Given the description of an element on the screen output the (x, y) to click on. 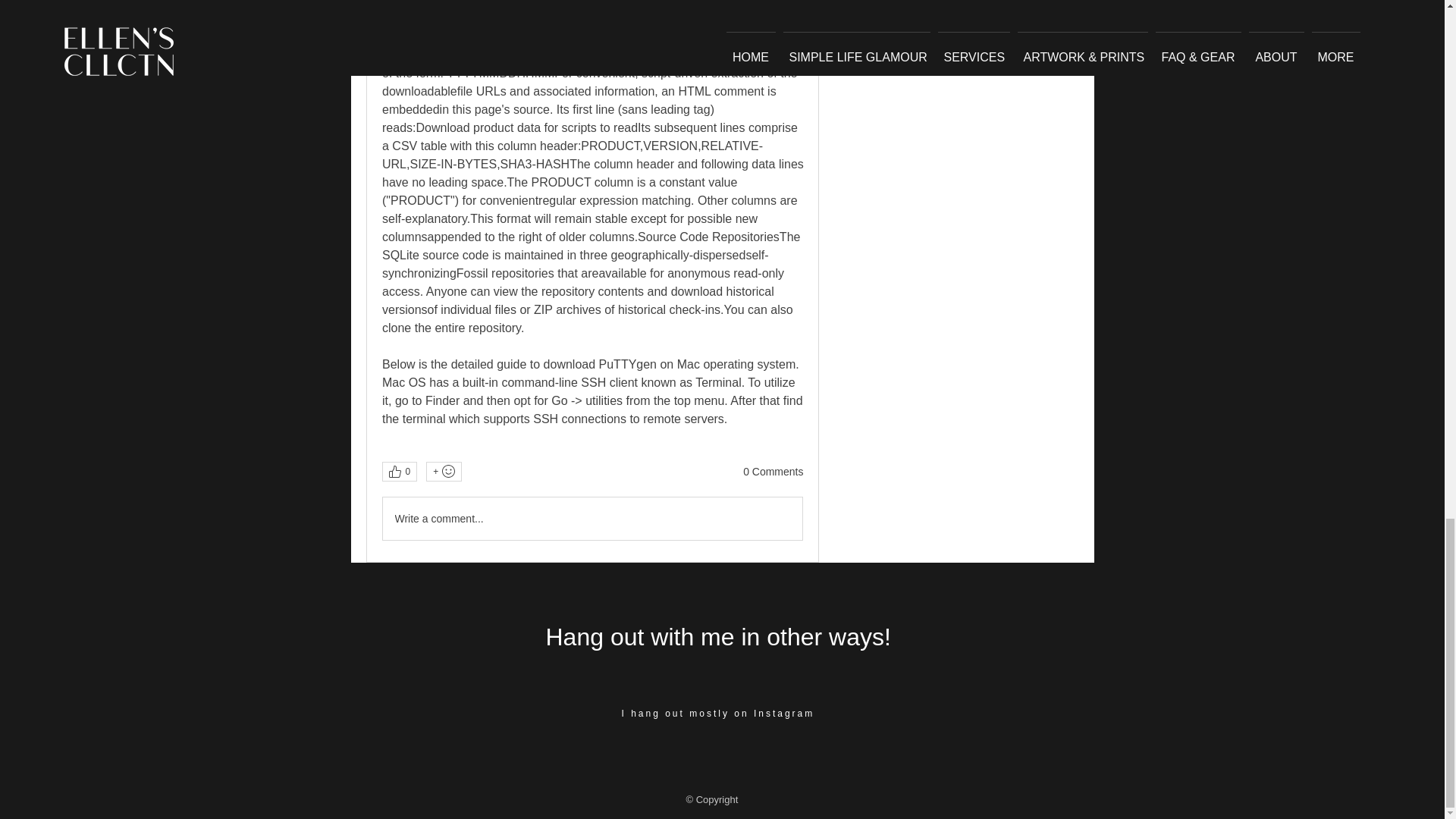
Write a comment... (591, 518)
0 Comments (772, 472)
